Given the description of an element on the screen output the (x, y) to click on. 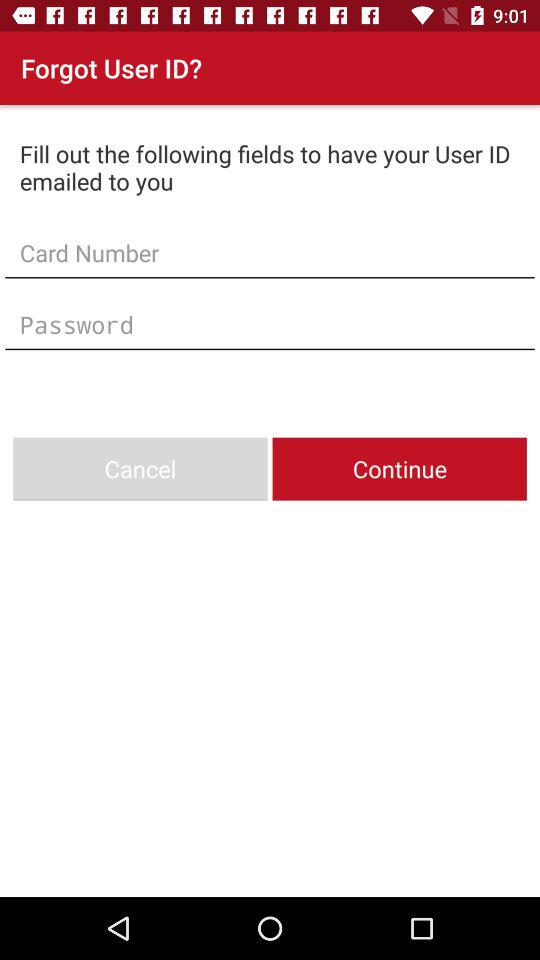
launch cancel on the left (140, 468)
